Given the description of an element on the screen output the (x, y) to click on. 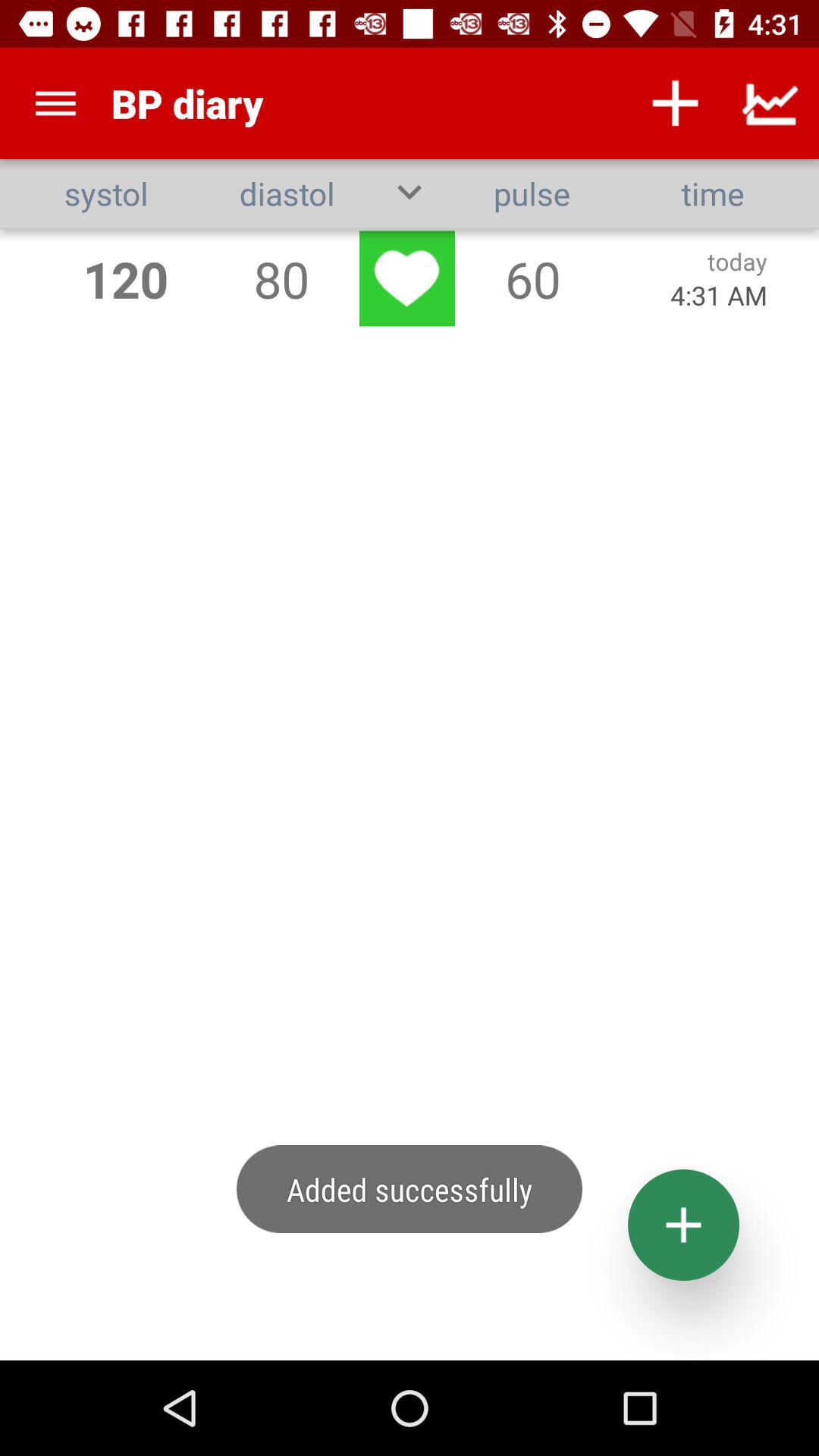
flip to the 120 app (125, 278)
